Given the description of an element on the screen output the (x, y) to click on. 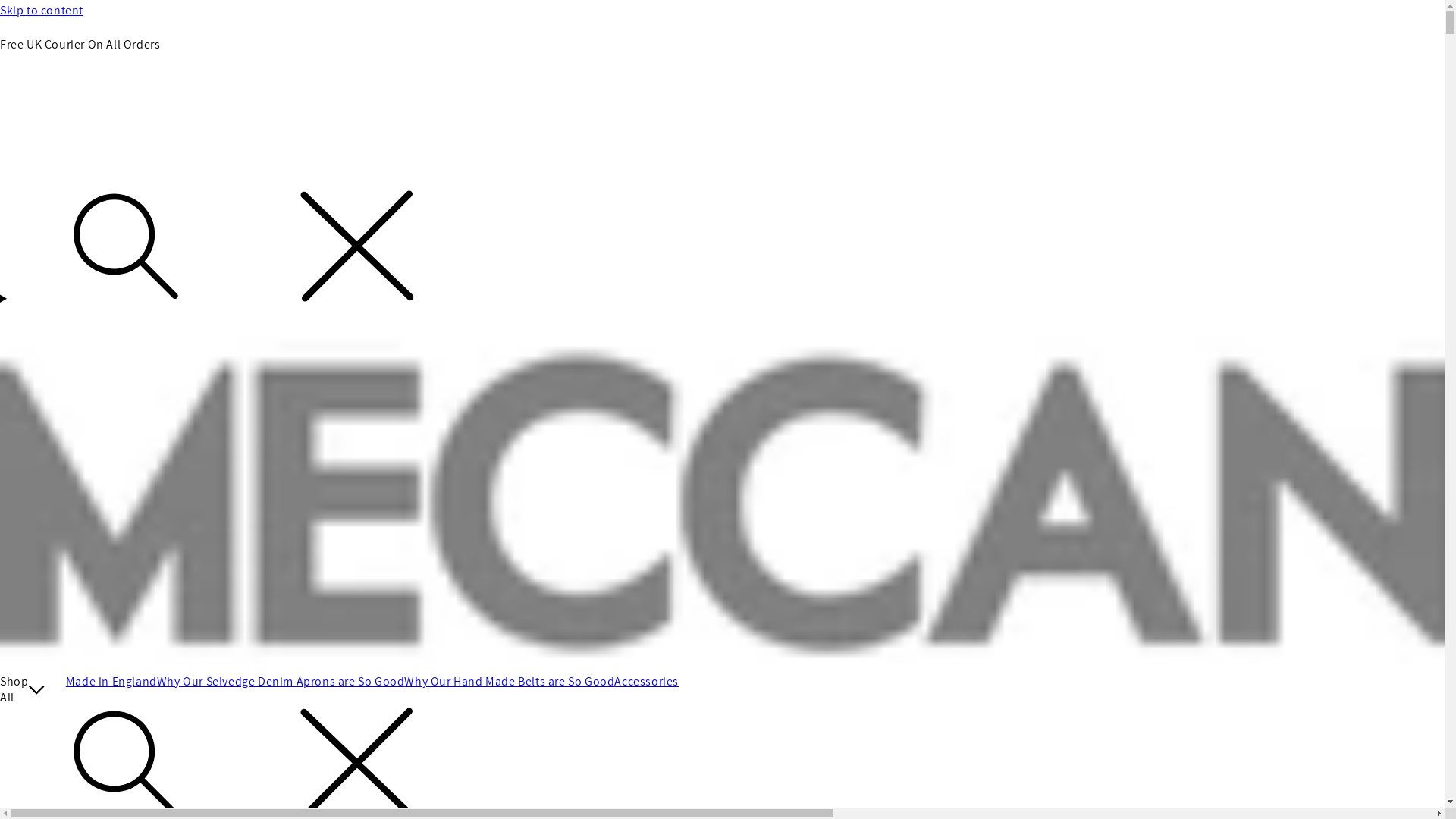
Why Our Hand Made Belts are So Good Element type: text (509, 682)
Accessories Element type: text (646, 682)
Made in England Element type: text (110, 682)
Why Our Selvedge Denim Aprons are So Good Element type: text (280, 682)
Skip to content Element type: text (722, 10)
